Given the description of an element on the screen output the (x, y) to click on. 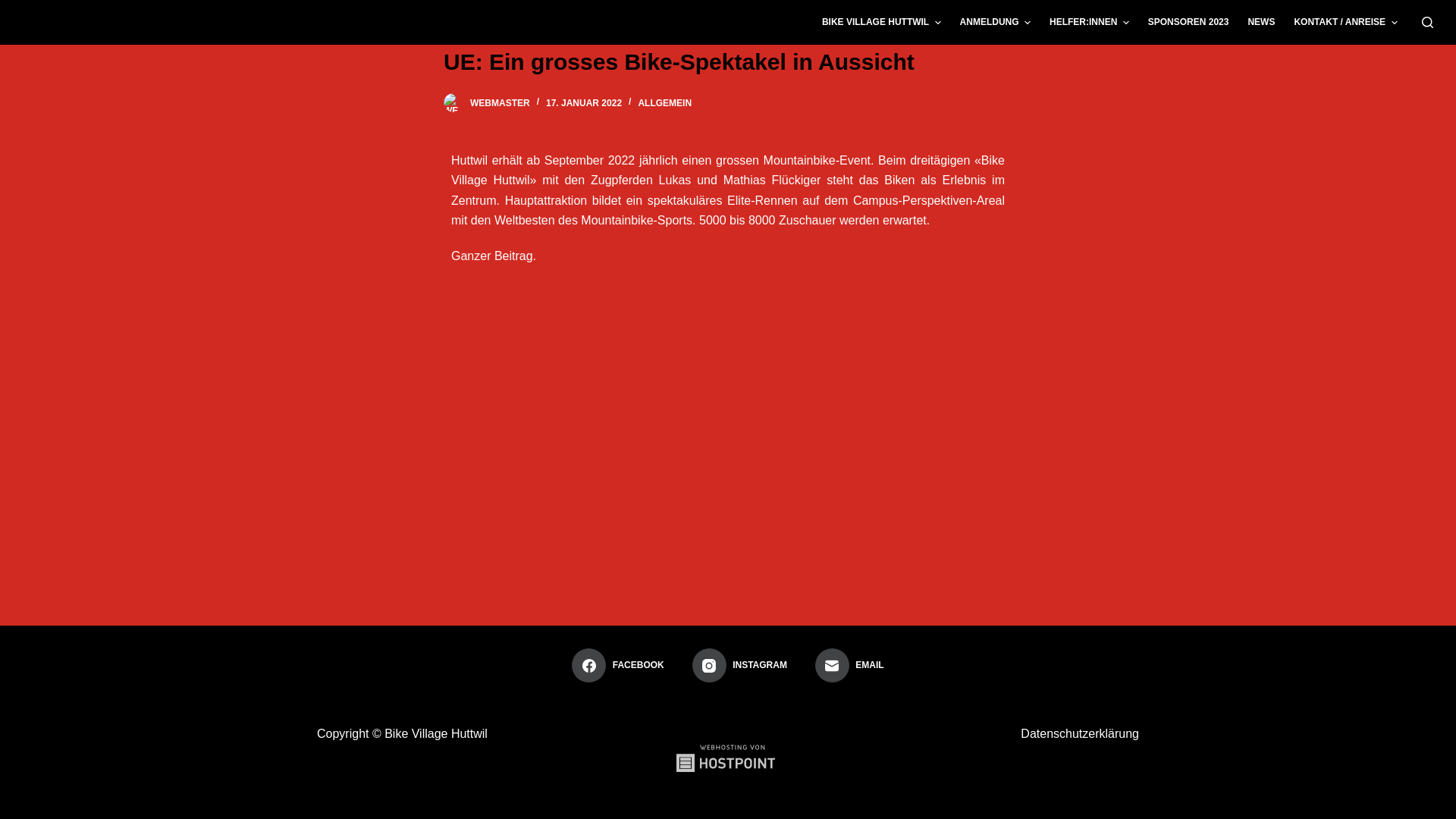
Skip to content Element type: text (15, 7)
BIKE VILLAGE HUTTWIL Element type: text (881, 22)
NEWS Element type: text (1261, 22)
ANMELDUNG Element type: text (994, 22)
EMAIL Element type: text (849, 665)
HELFER:INNEN Element type: text (1088, 22)
WEBMASTER Element type: text (500, 102)
FACEBOOK Element type: text (617, 665)
SPONSOREN 2023 Element type: text (1188, 22)
Ganzer Beitrag. Element type: text (493, 255)
ALLGEMEIN Element type: text (664, 102)
INSTAGRAM Element type: text (739, 665)
KONTAKT / ANREISE Element type: text (1345, 22)
